Given the description of an element on the screen output the (x, y) to click on. 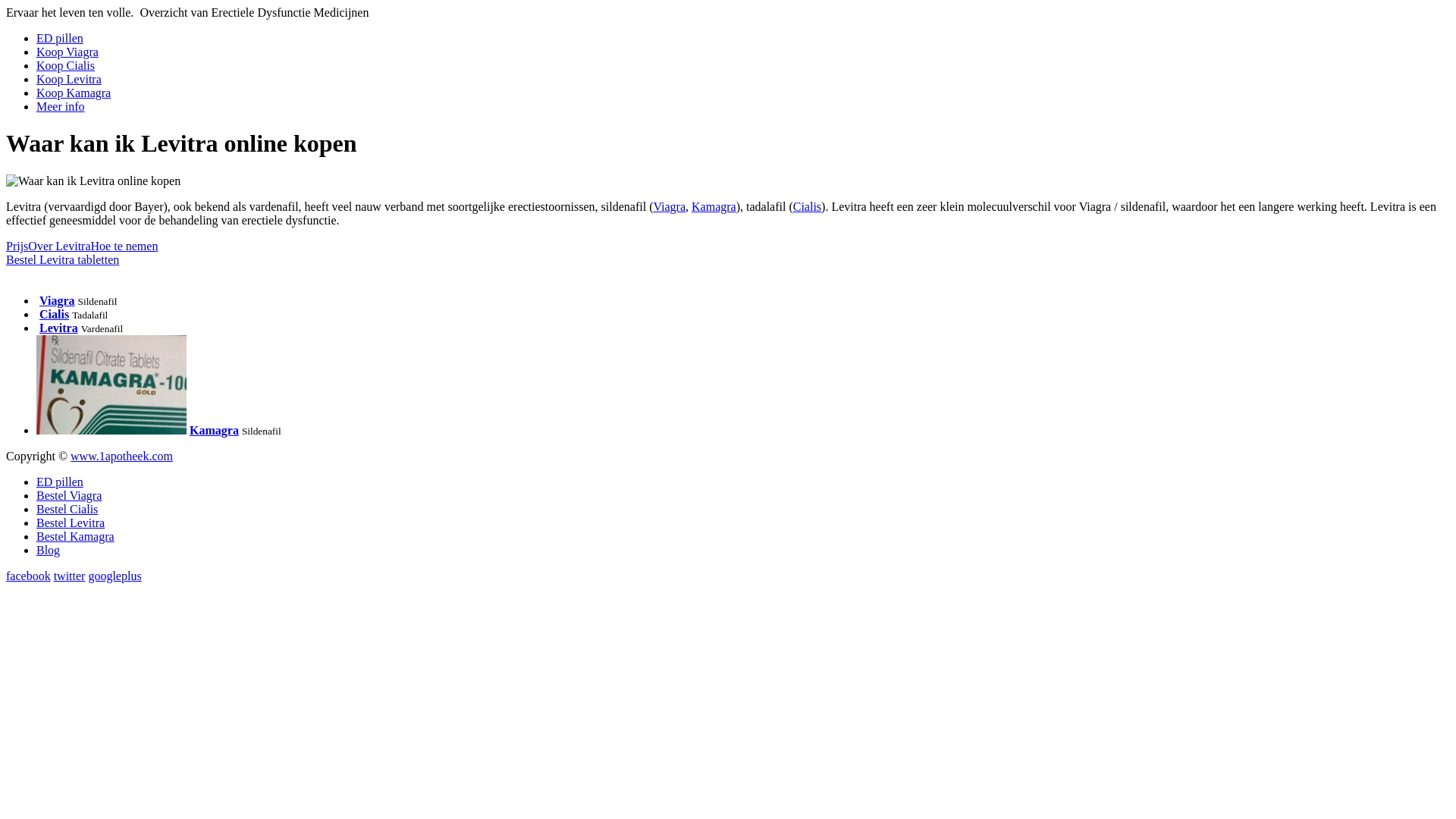
Blog Element type: text (47, 549)
Koop Kamagra Element type: text (73, 92)
Cialis Element type: text (54, 313)
ED pillen Element type: text (59, 481)
Koop Cialis Element type: text (65, 65)
Koop Levitra Element type: text (68, 78)
Bestel Kamagra Element type: text (75, 536)
Koop Viagra Element type: text (67, 51)
Cialis Element type: text (807, 206)
Kamagra Element type: text (213, 429)
Levitra Element type: text (58, 327)
Viagra Element type: text (668, 206)
ED pillen Element type: text (59, 37)
twitter Element type: text (69, 575)
googleplus Element type: text (114, 575)
Bestel Cialis Element type: text (66, 508)
Meer info Element type: text (60, 106)
Prijs Element type: text (17, 245)
Bestel Viagra Element type: text (68, 495)
Kamagra Element type: text (713, 206)
Over Levitra Element type: text (59, 245)
Bestel Levitra tabletten Element type: text (62, 259)
www.1apotheek.com Element type: text (121, 455)
Bestel Levitra Element type: text (70, 522)
Viagra Element type: text (57, 300)
facebook Element type: text (28, 575)
Hoe te nemen Element type: text (124, 245)
